Given the description of an element on the screen output the (x, y) to click on. 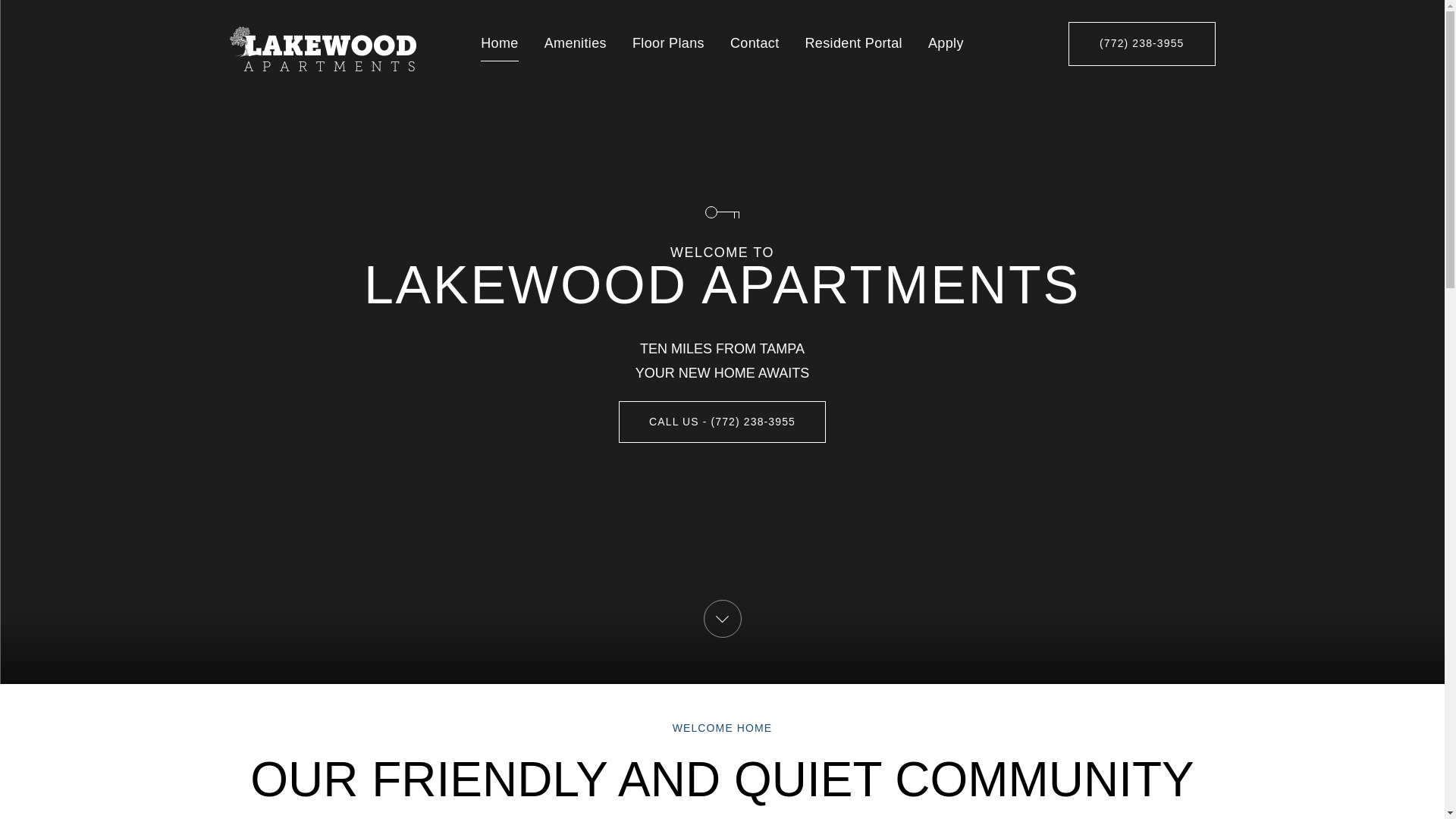
Log In (722, 496)
Apply (945, 43)
Floor Plans (667, 43)
Contact (754, 43)
Home (499, 43)
Amenities (575, 43)
Resident Portal (853, 43)
